Given the description of an element on the screen output the (x, y) to click on. 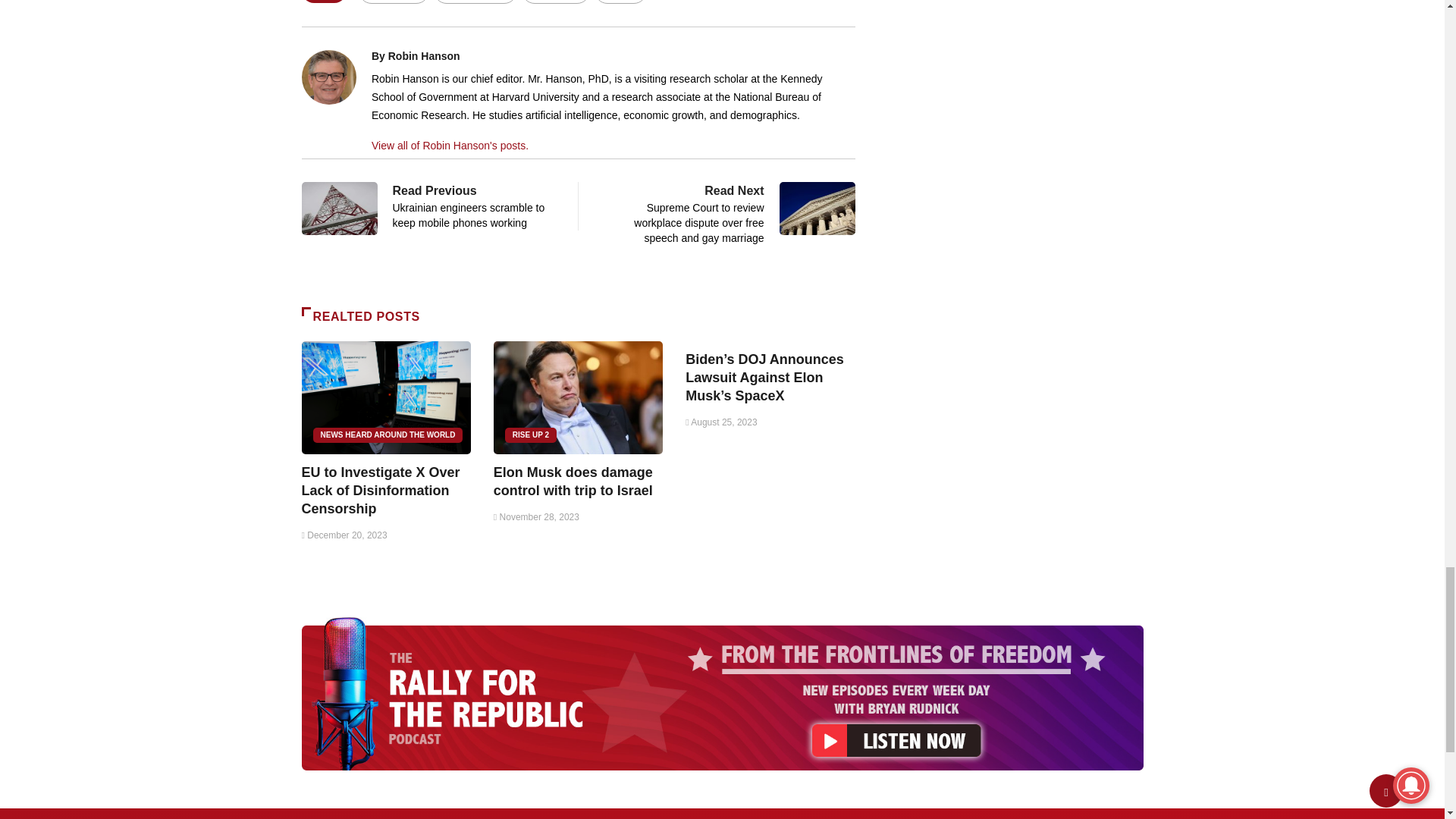
EU to Investigate X Over Lack of Disinformation Censorship (385, 397)
Elon Musk does damage control with trip to Israel (577, 397)
EU to Investigate X Over Lack of Disinformation Censorship (380, 490)
